Given the description of an element on the screen output the (x, y) to click on. 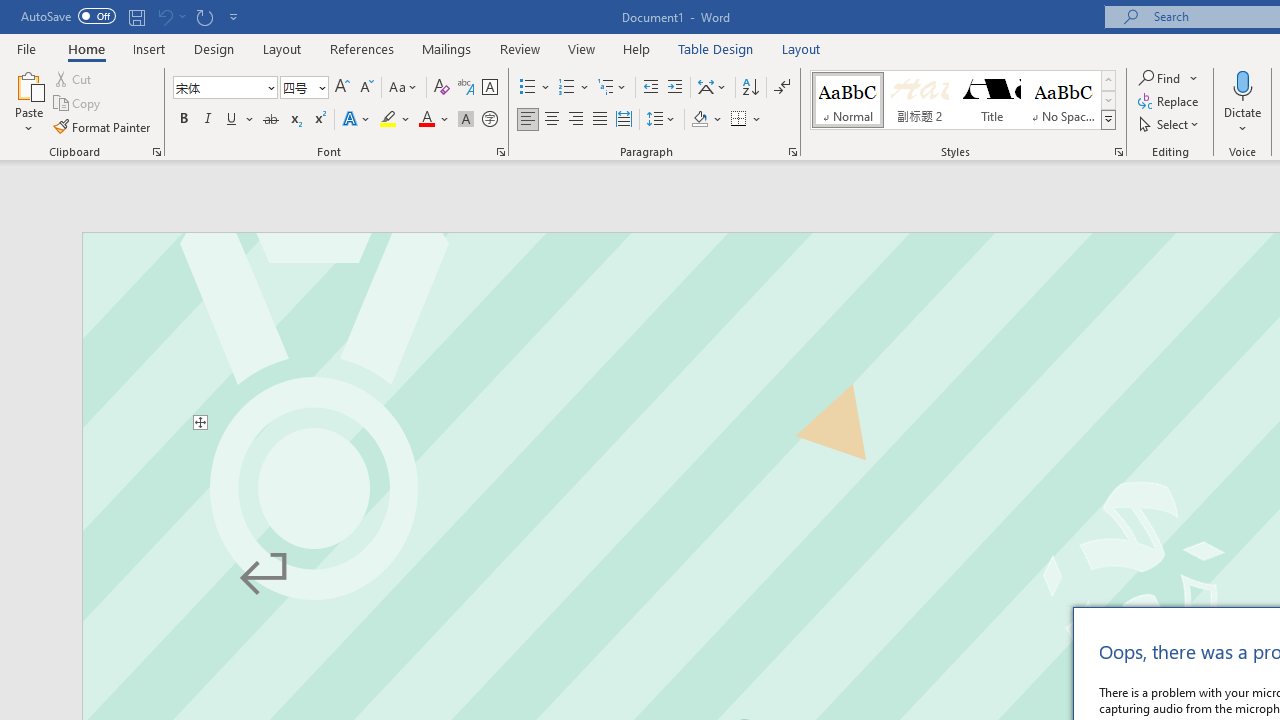
Can't Undo (164, 15)
